Given the description of an element on the screen output the (x, y) to click on. 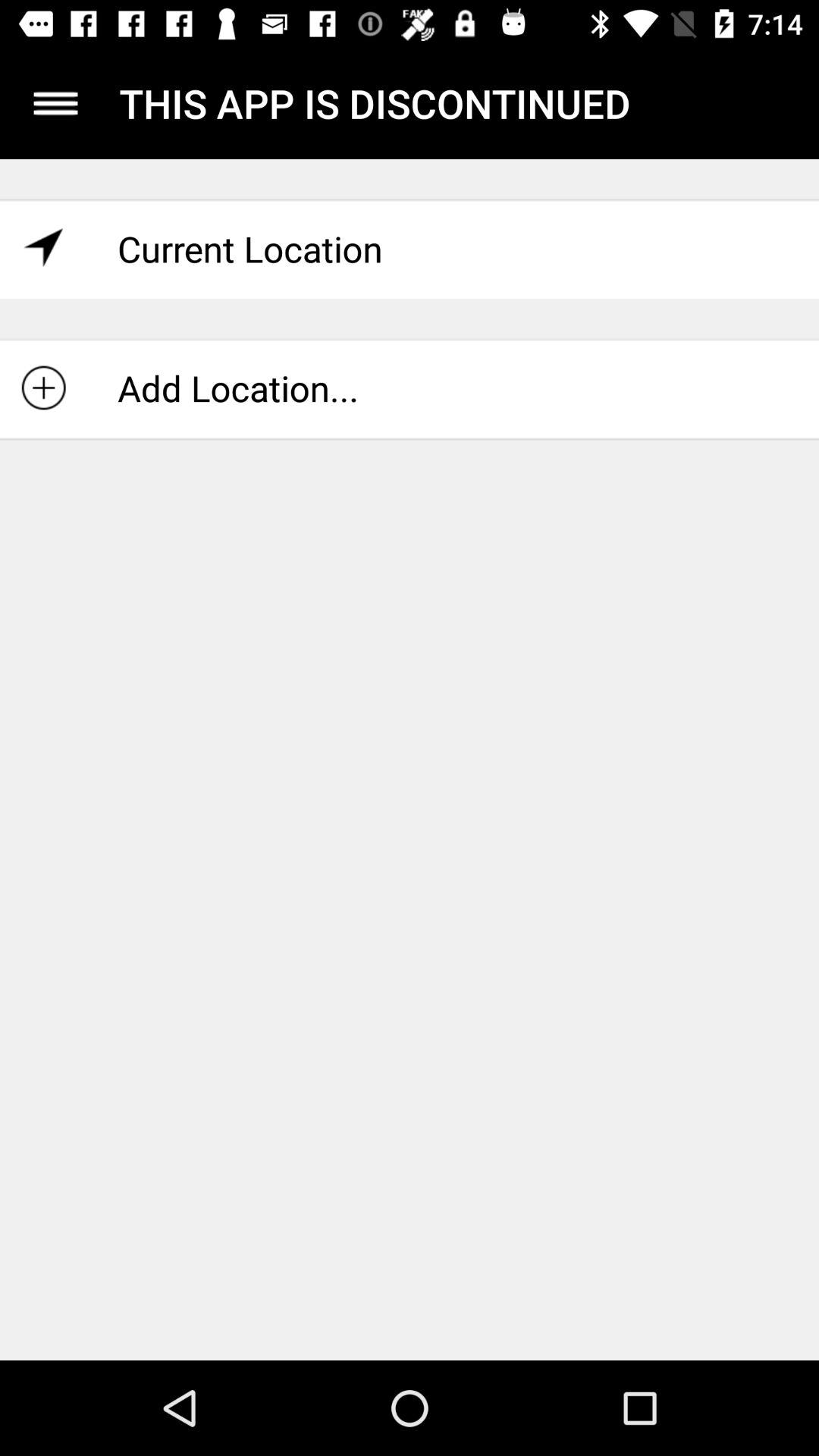
open the menu (55, 103)
